Given the description of an element on the screen output the (x, y) to click on. 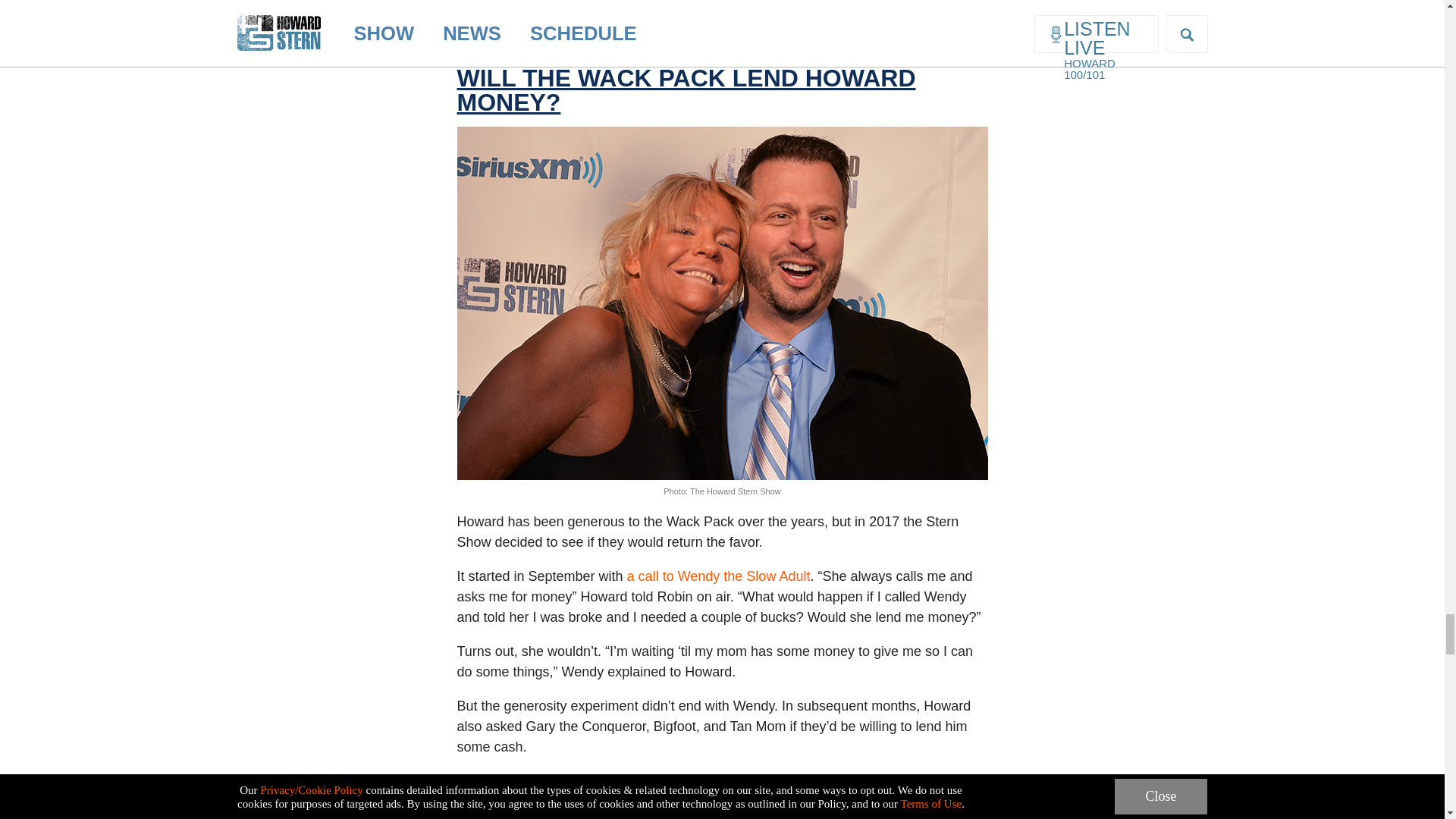
Gary declined (498, 780)
a call to Wendy the Slow Adult (718, 575)
